Given the description of an element on the screen output the (x, y) to click on. 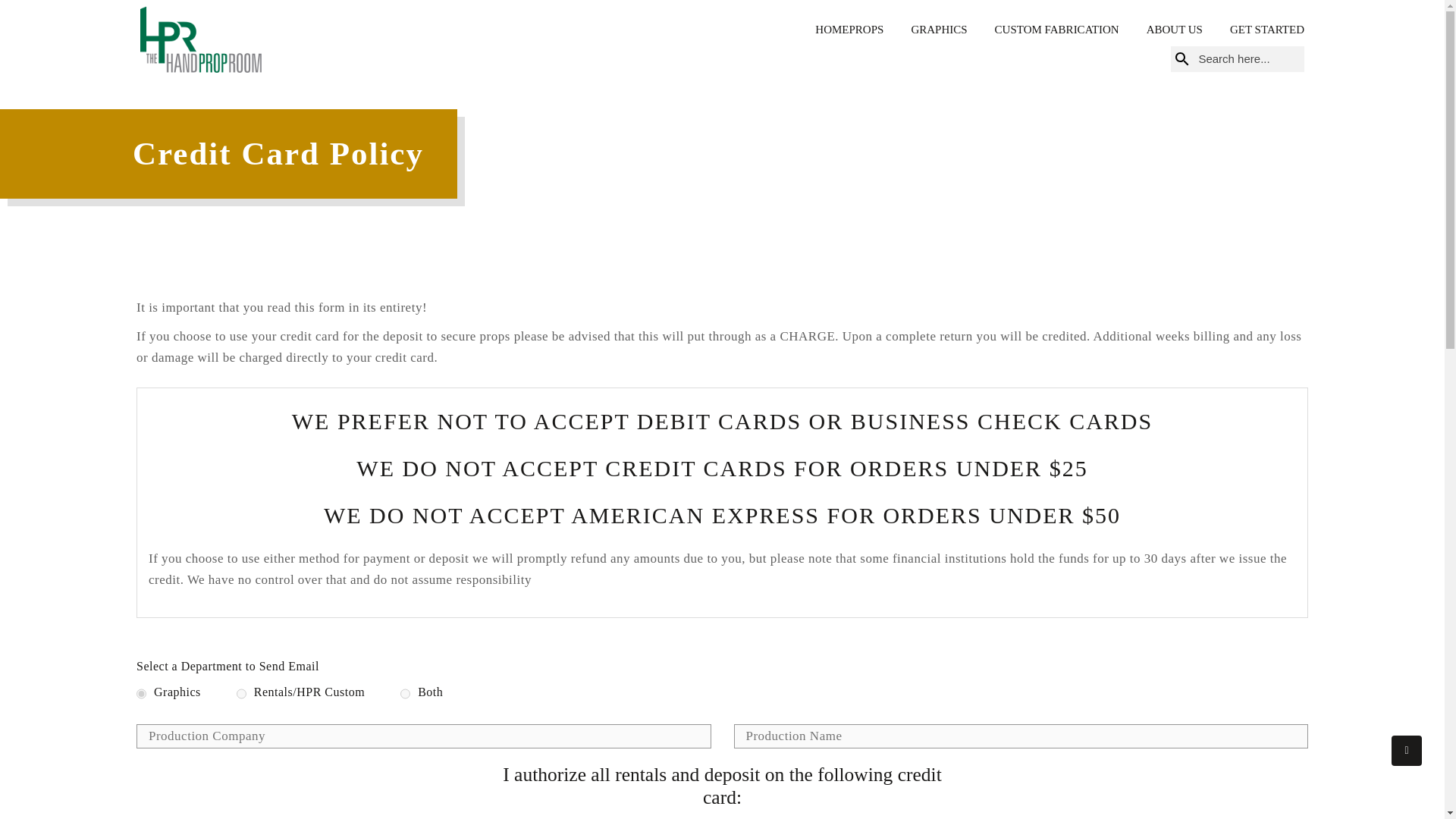
PROPS (865, 29)
CUSTOM FABRICATION (1056, 29)
HOME (831, 29)
ABOUT US (1174, 29)
GRAPHICS (938, 29)
GET STARTED (1267, 29)
